Given the description of an element on the screen output the (x, y) to click on. 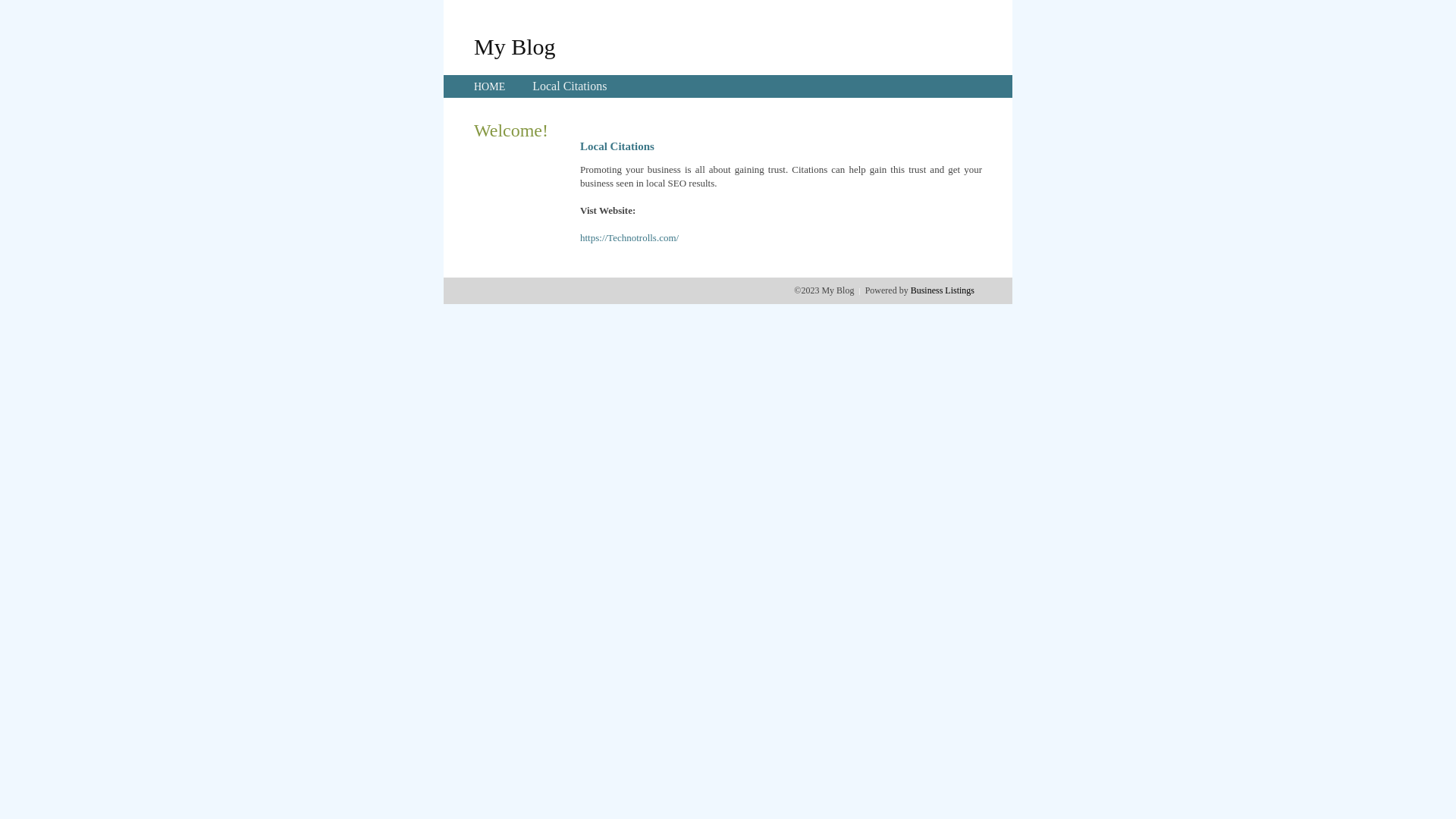
Local Citations Element type: text (569, 85)
Business Listings Element type: text (942, 290)
My Blog Element type: text (514, 46)
HOME Element type: text (489, 86)
https://Technotrolls.com/ Element type: text (629, 237)
